Given the description of an element on the screen output the (x, y) to click on. 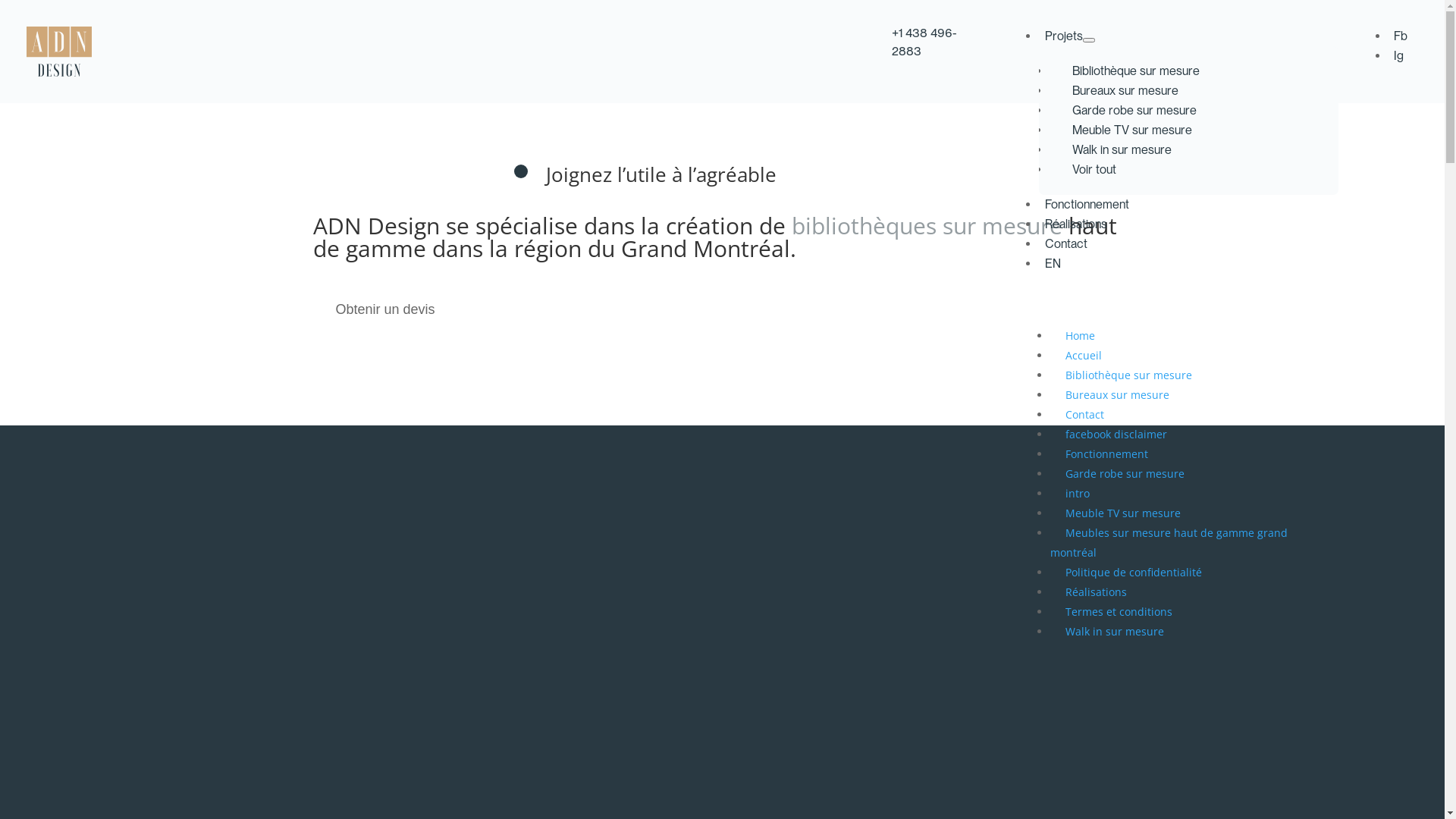
Meuble TV sur mesure Element type: text (1122, 512)
Obtenir un devis Element type: text (384, 309)
intro Element type: text (1077, 493)
Fonctionnement Element type: text (1106, 453)
Bureaux sur mesure Element type: text (1124, 90)
+1 438 496-2883 Element type: text (924, 41)
Garde robe sur mesure Element type: text (1124, 473)
Termes et conditions Element type: text (1118, 611)
Meuble TV sur mesure Element type: text (1131, 129)
Fonctionnement Element type: text (1086, 208)
EN Element type: text (1052, 267)
Garde robe sur mesure Element type: text (1133, 110)
Home Element type: text (1080, 335)
facebook disclaimer Element type: text (1116, 433)
Contact Element type: text (1065, 247)
Walk in sur mesure Element type: text (1120, 149)
Contact Element type: text (1084, 414)
Walk in sur mesure Element type: text (1114, 631)
Accueil Element type: text (1083, 355)
Projets Element type: text (1069, 39)
Ig Element type: text (1397, 55)
Fb Element type: text (1399, 35)
Voir tout Element type: text (1093, 169)
Bureaux sur mesure Element type: text (1117, 394)
